Given the description of an element on the screen output the (x, y) to click on. 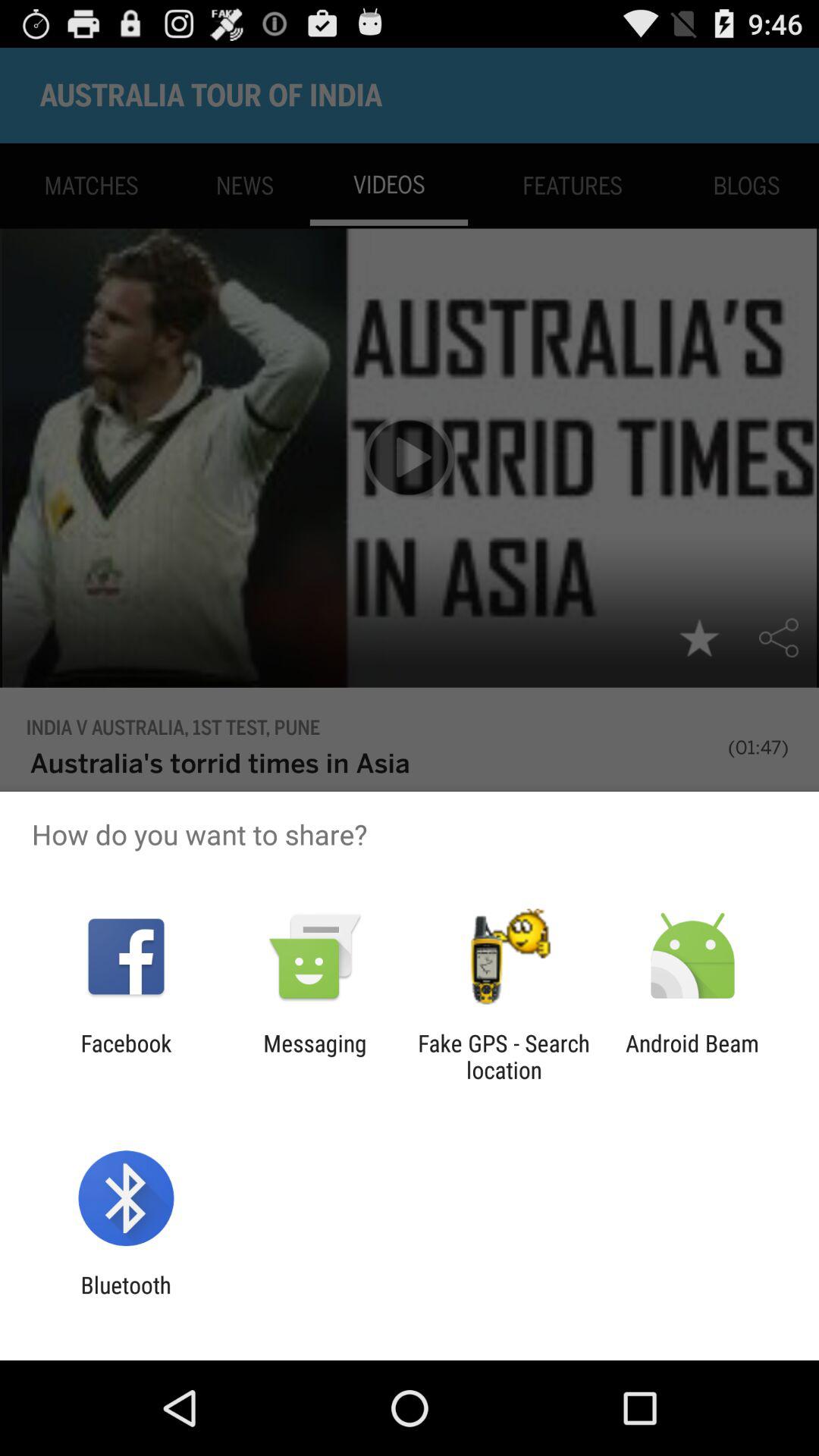
select facebook (125, 1056)
